Given the description of an element on the screen output the (x, y) to click on. 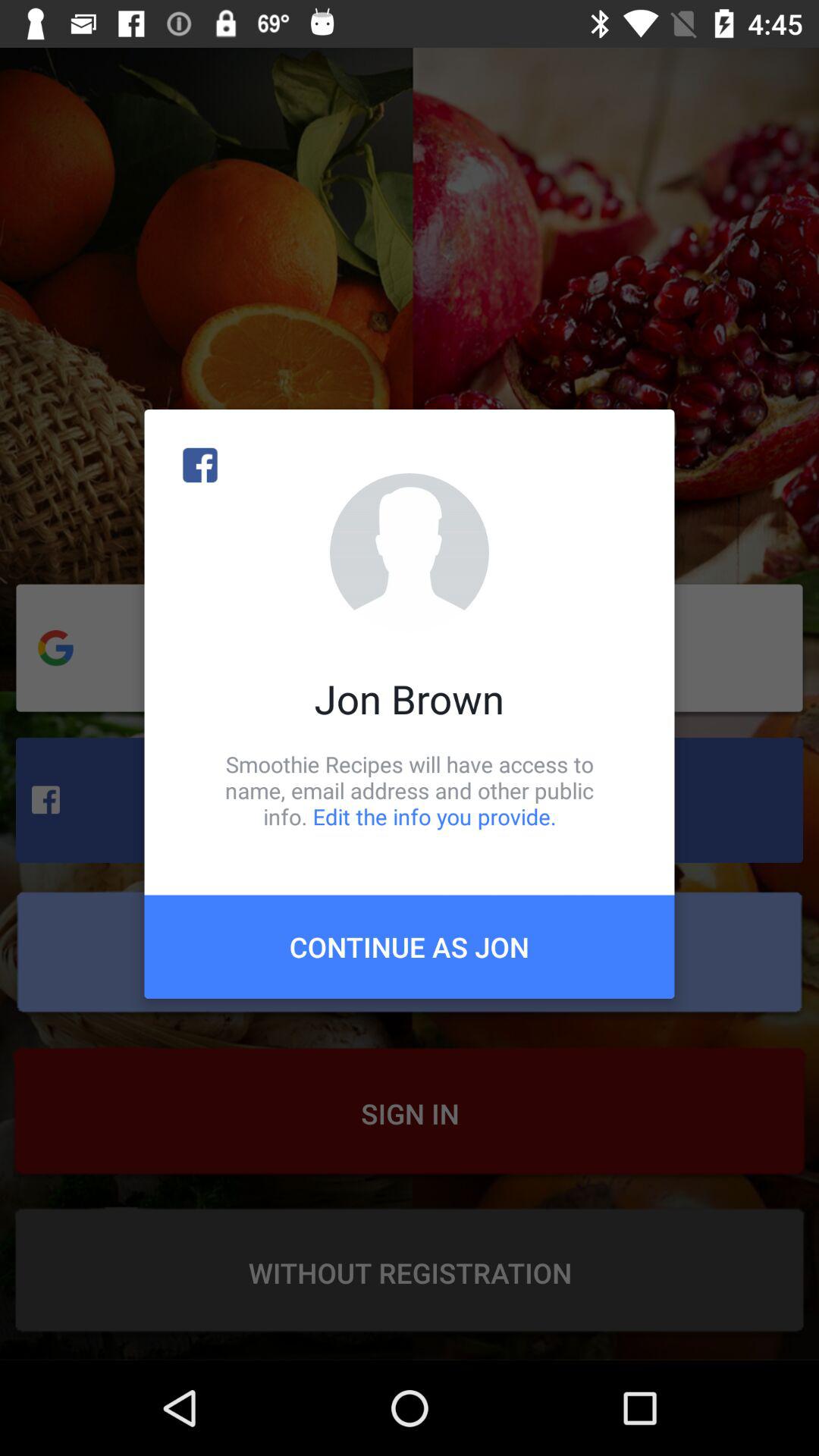
flip until smoothie recipes will item (409, 790)
